Given the description of an element on the screen output the (x, y) to click on. 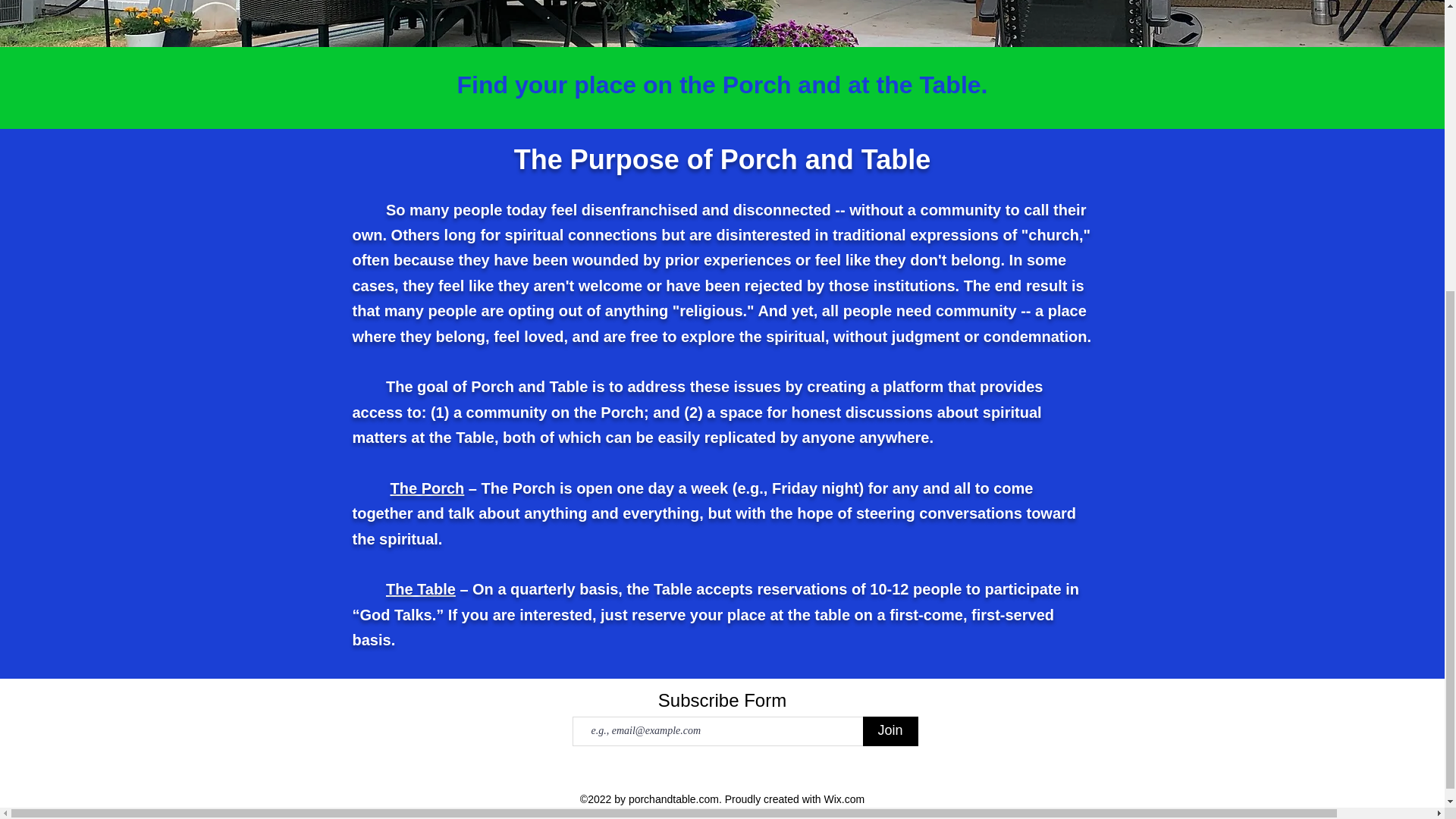
Join (890, 731)
